Given the description of an element on the screen output the (x, y) to click on. 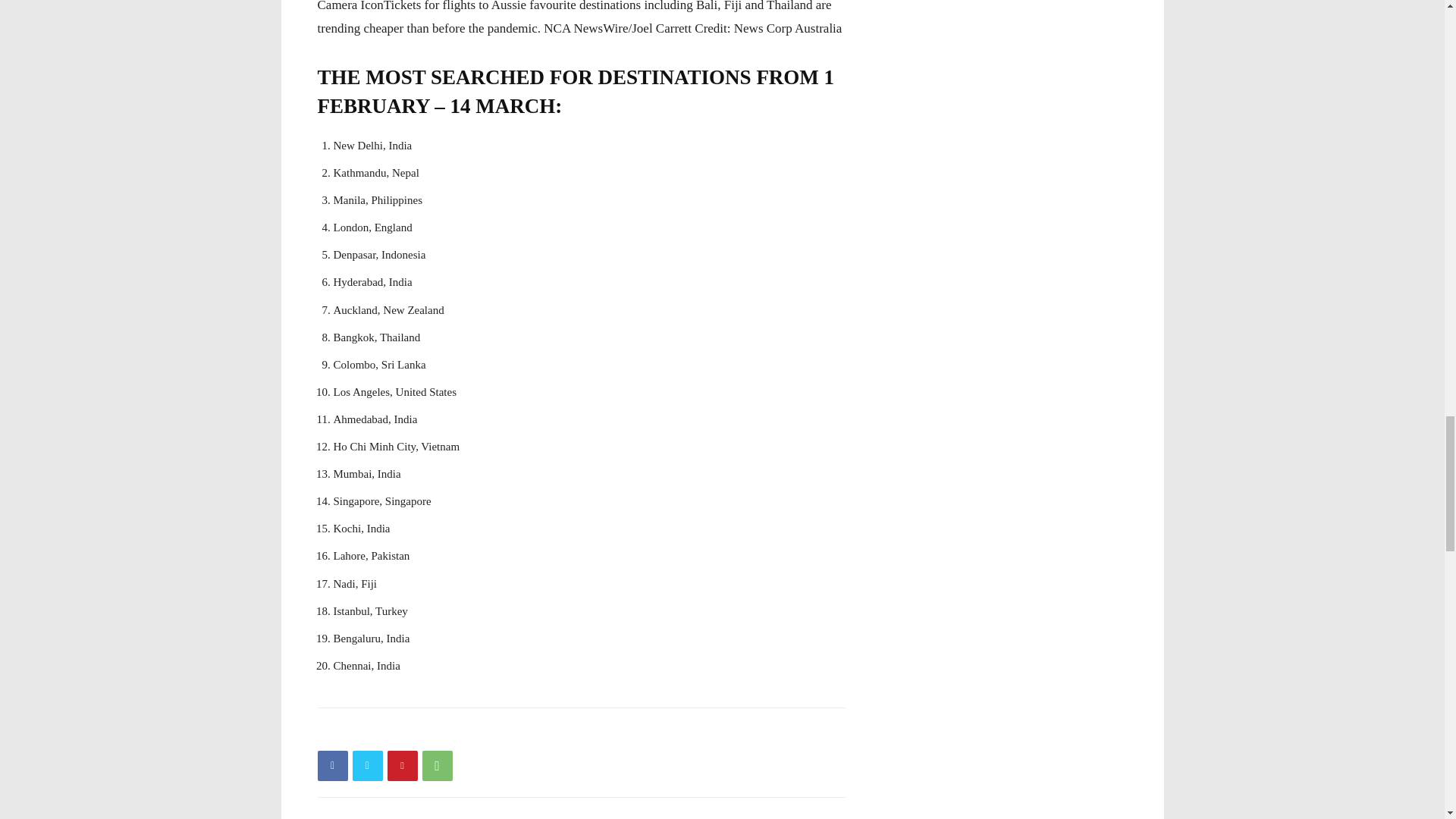
Pinterest (401, 766)
WhatsApp (436, 766)
Facebook (332, 766)
Twitter (366, 766)
bottomFacebookLike (430, 731)
